Given the description of an element on the screen output the (x, y) to click on. 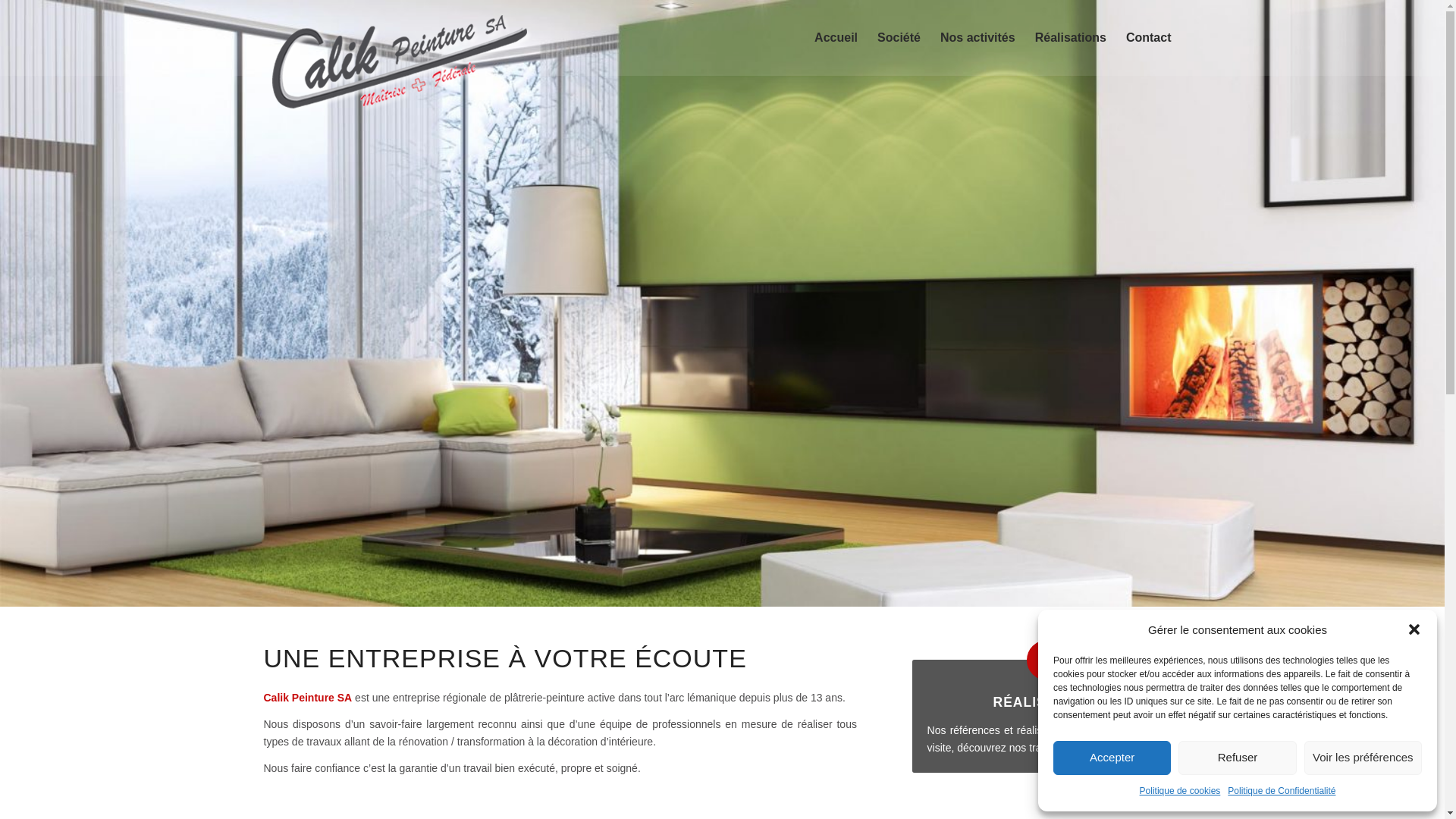
Politique de cookies Element type: text (1179, 791)
Accueil Element type: text (835, 37)
Refuser Element type: text (1236, 757)
Accepter Element type: text (1111, 757)
Contact Element type: text (1148, 37)
calik_background_salon Element type: hover (722, 303)
